Given the description of an element on the screen output the (x, y) to click on. 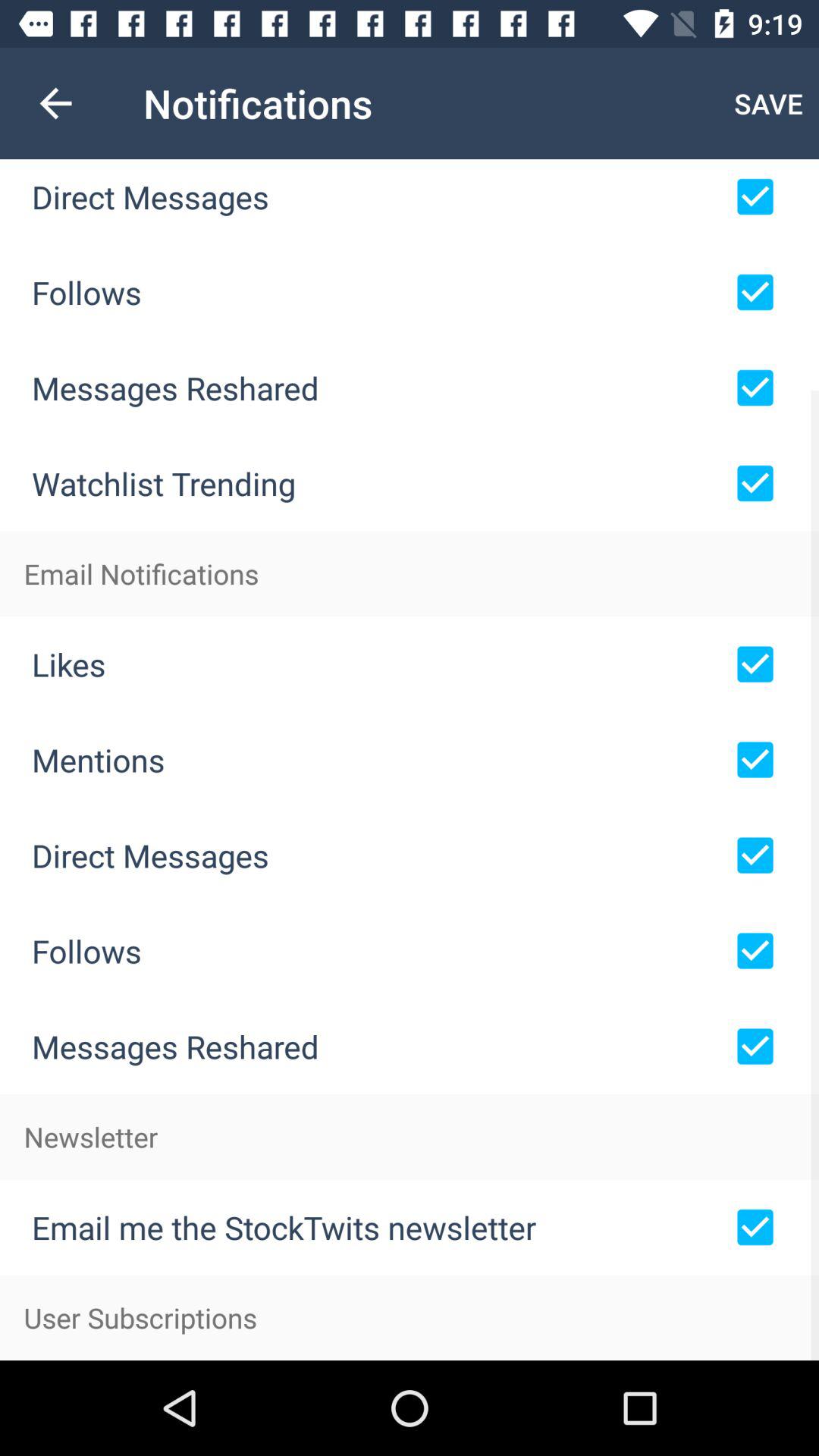
choose the save icon (768, 103)
